Given the description of an element on the screen output the (x, y) to click on. 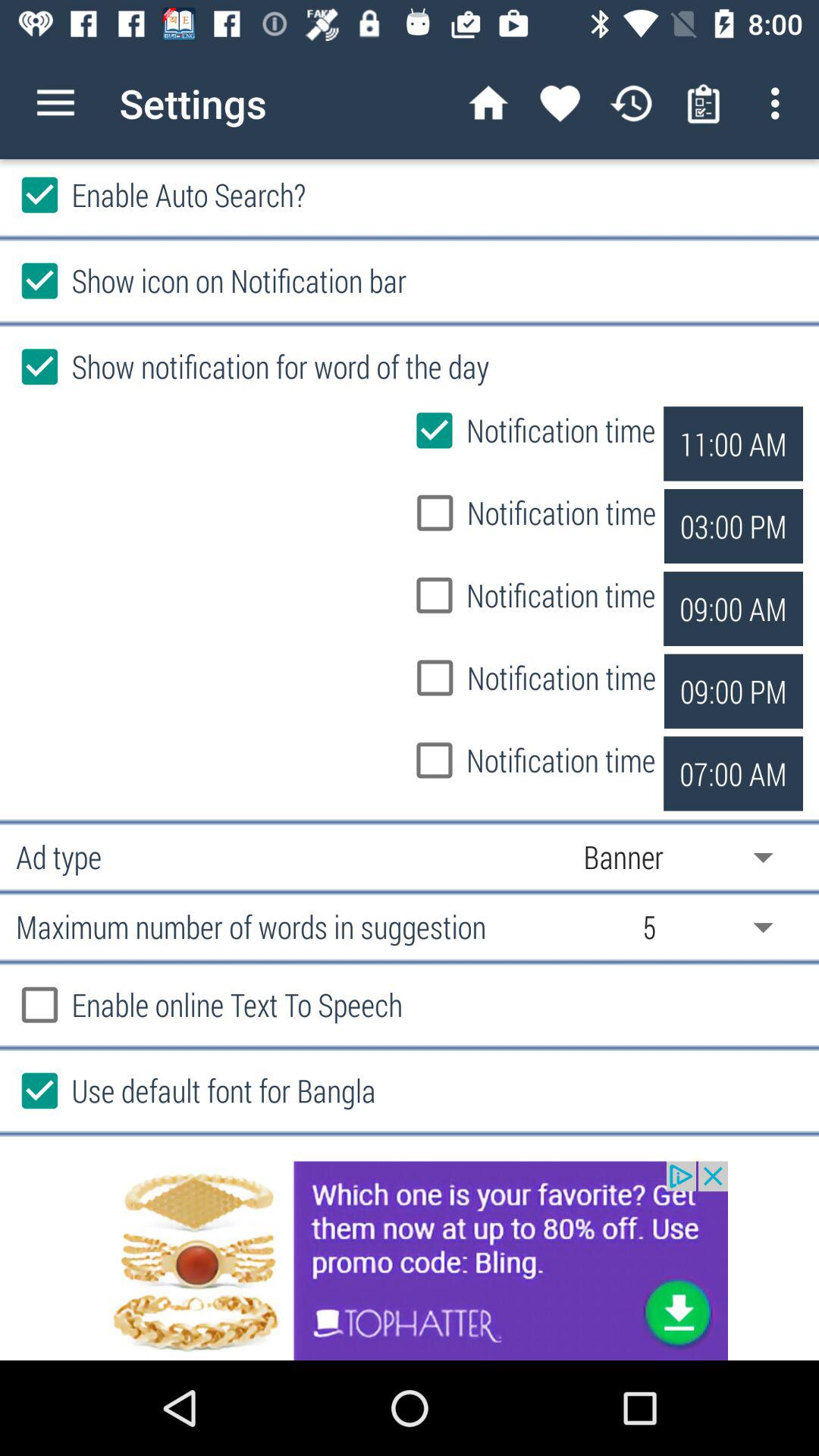
go to advertisement store (409, 1260)
